Given the description of an element on the screen output the (x, y) to click on. 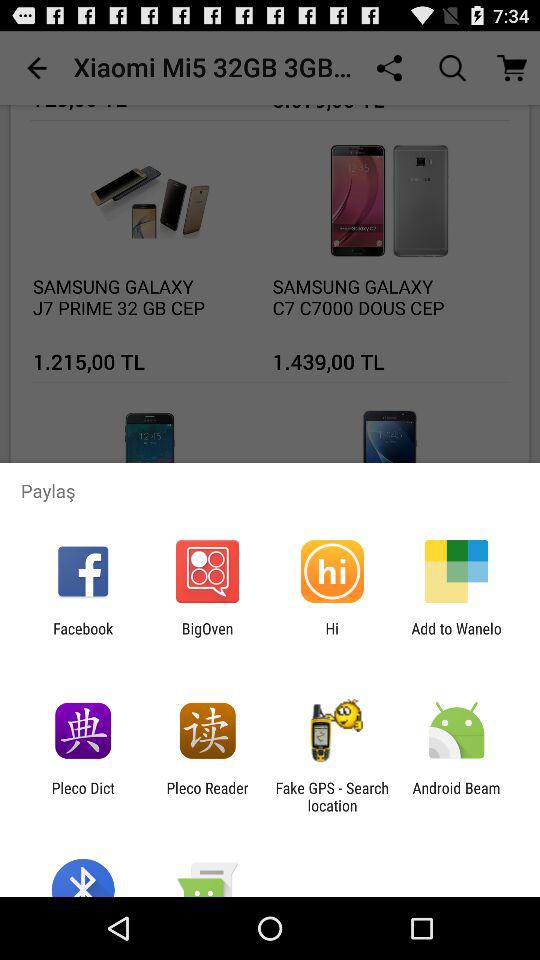
choose add to wanelo (456, 637)
